Given the description of an element on the screen output the (x, y) to click on. 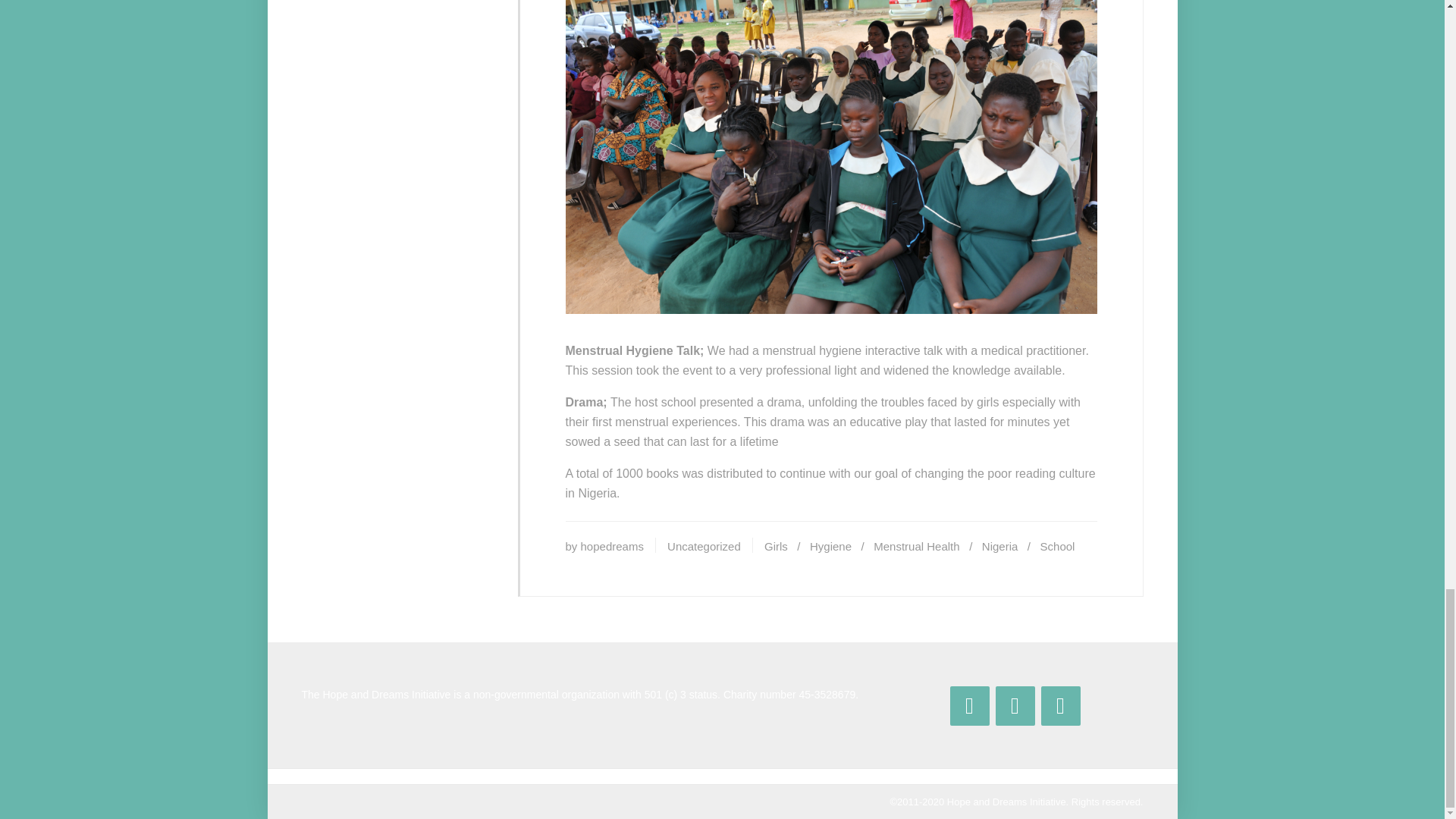
Contact (1060, 705)
Facebook (968, 705)
Twitter (1013, 705)
Menstrual Health (916, 545)
Hygiene (830, 545)
School (1058, 545)
Uncategorized (703, 545)
Girls (775, 545)
Nigeria (999, 545)
